Given the description of an element on the screen output the (x, y) to click on. 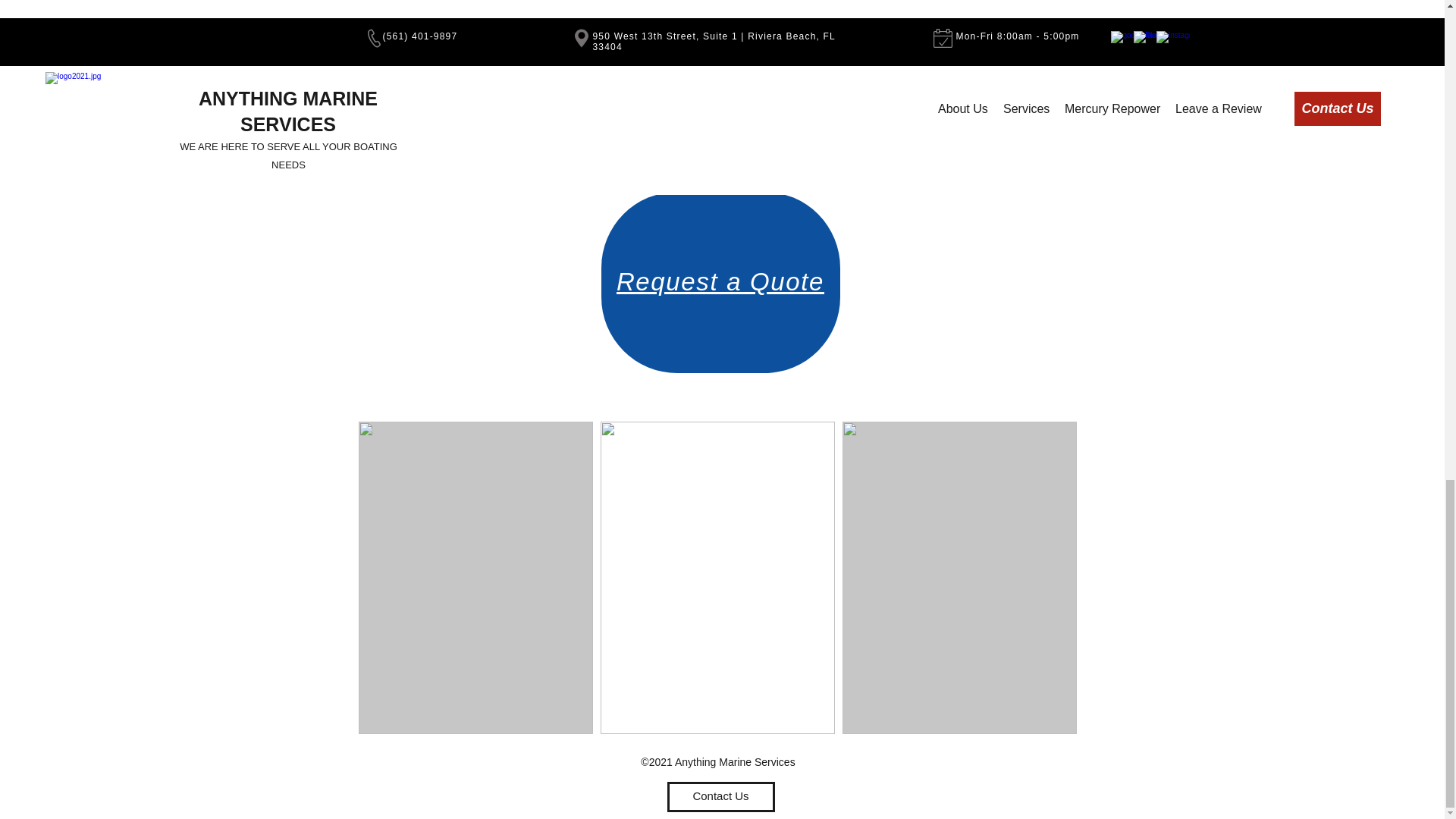
Contact Us (720, 797)
Request a Quote (719, 281)
